Given the description of an element on the screen output the (x, y) to click on. 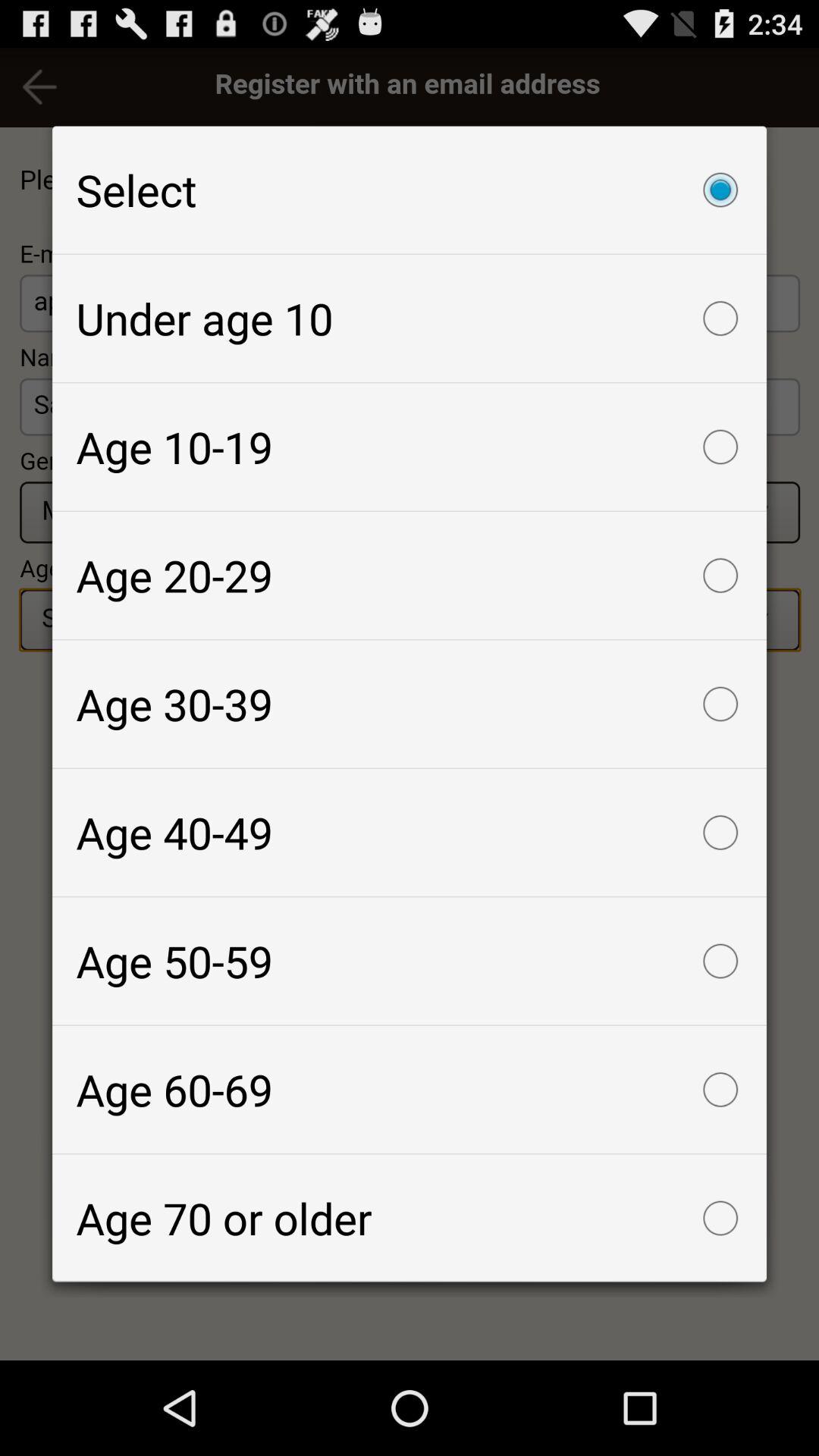
turn on checkbox below age 40-49 icon (409, 960)
